Given the description of an element on the screen output the (x, y) to click on. 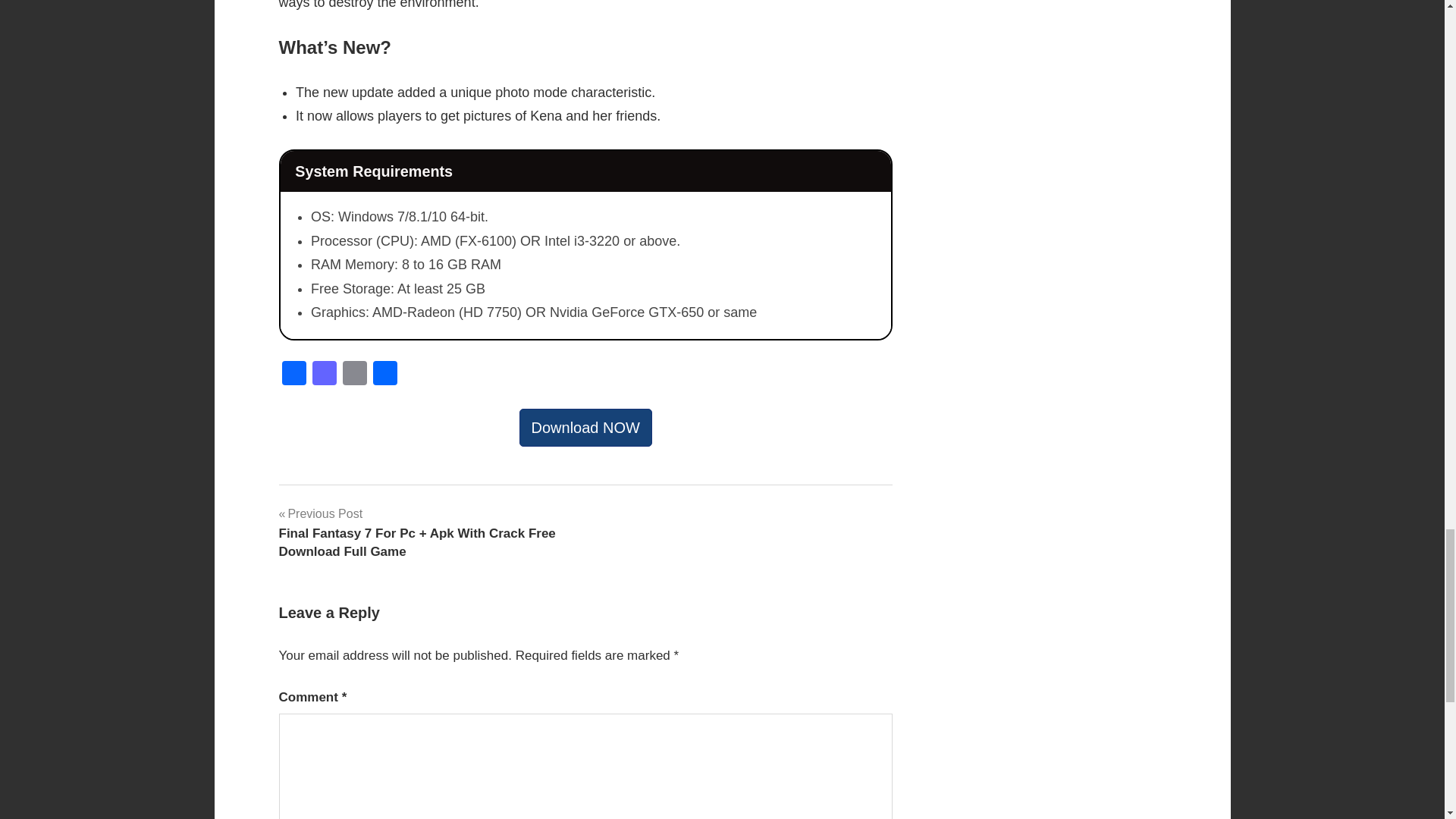
Email (354, 375)
Download NOW (585, 427)
Facebook (293, 375)
Email (354, 375)
Mastodon (323, 375)
Mastodon (323, 375)
Share (384, 375)
Facebook (293, 375)
